Given the description of an element on the screen output the (x, y) to click on. 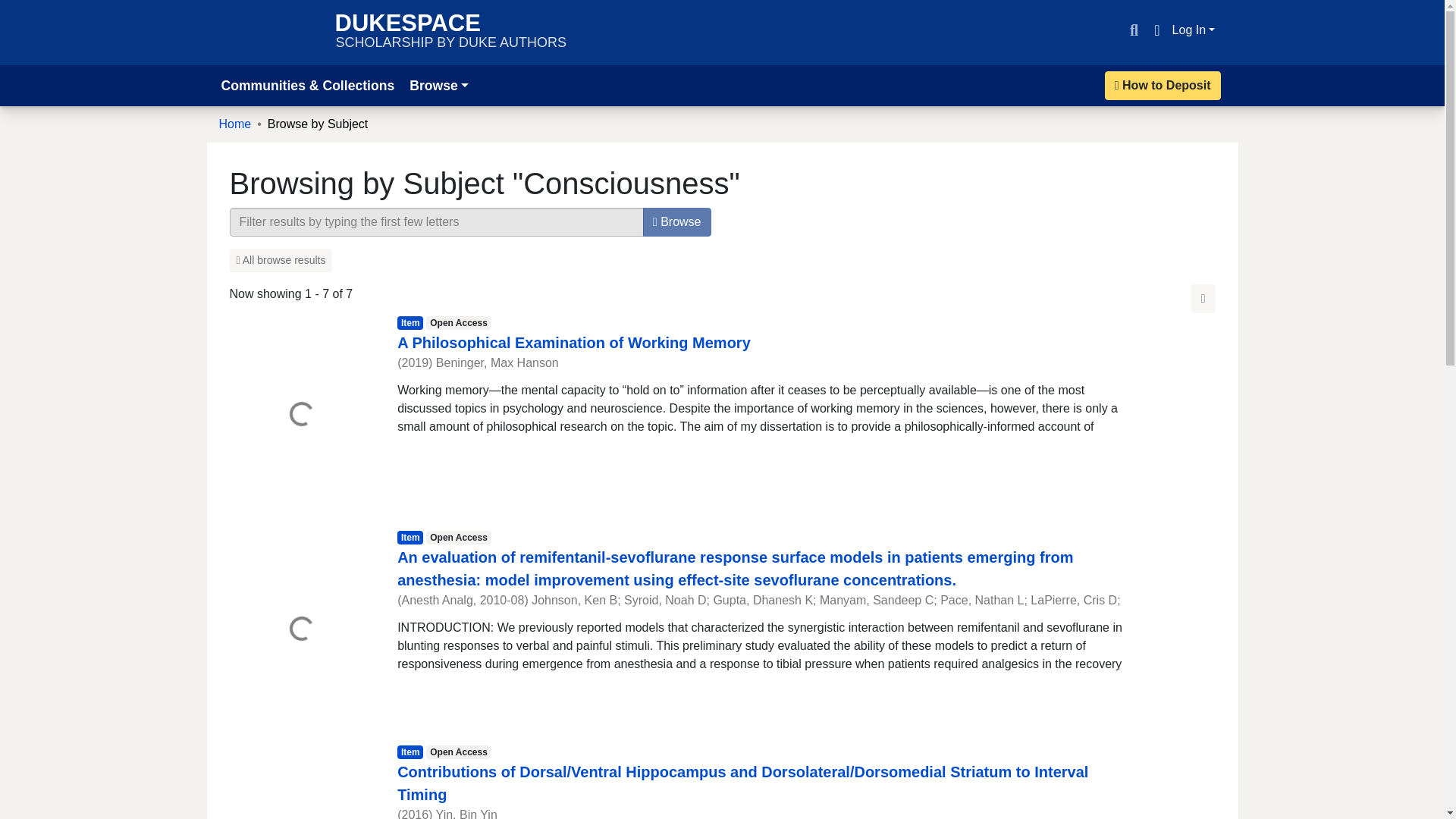
Browse (677, 222)
Search (450, 32)
All browse results (1133, 30)
Duke University Libraries (279, 259)
Browse (269, 32)
Language switch (438, 85)
A Philosophical Examination of Working Memory (1156, 30)
Skip to Main Content (574, 342)
How to Deposit (18, 9)
Log In (1163, 85)
Home (1193, 29)
